Given the description of an element on the screen output the (x, y) to click on. 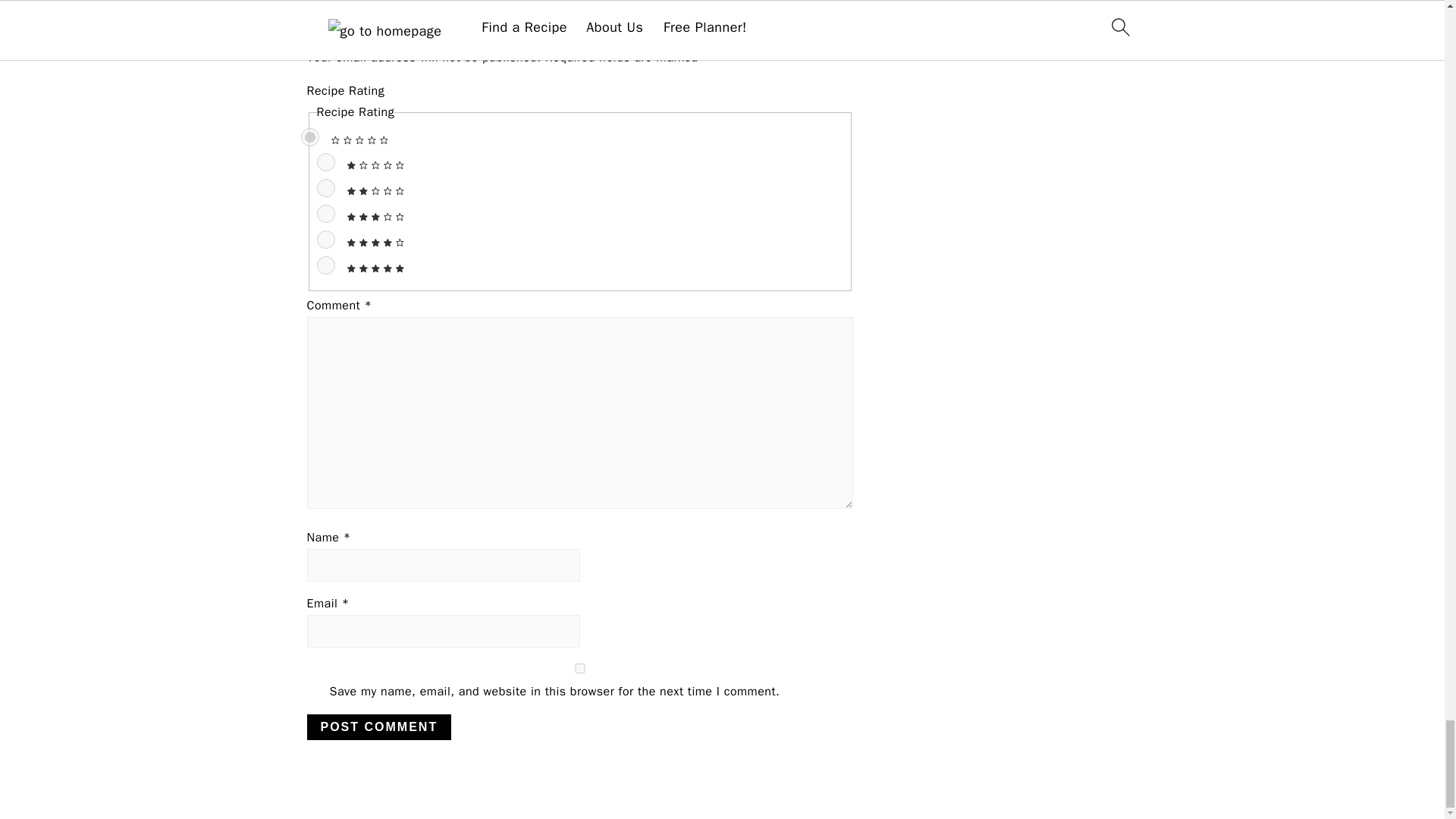
1 (325, 162)
0 (308, 136)
4 (325, 239)
5 (325, 265)
Post Comment (378, 727)
3 (325, 213)
yes (578, 668)
2 (325, 188)
